Given the description of an element on the screen output the (x, y) to click on. 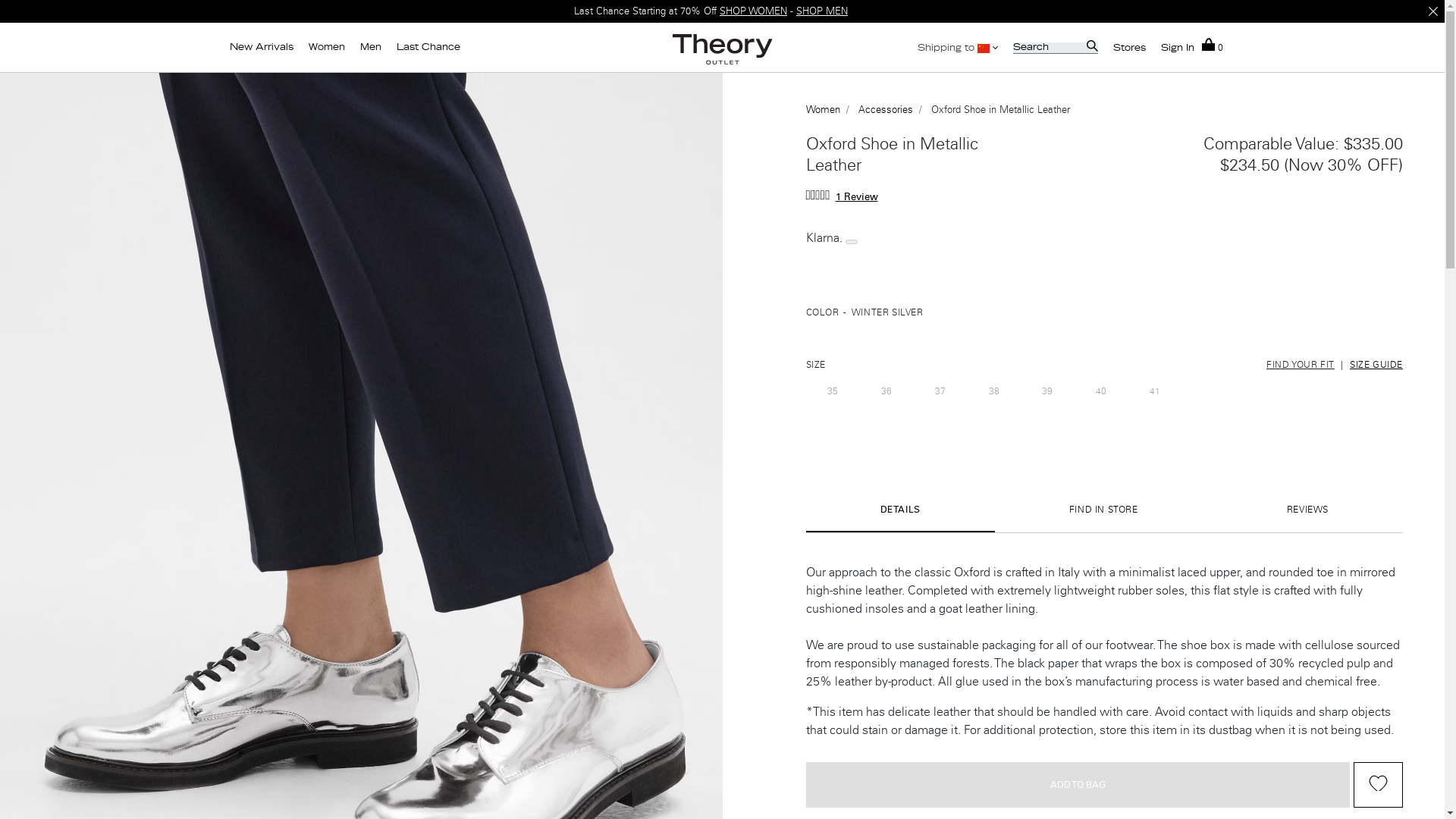
New Arrivals (260, 47)
SHOP MEN (821, 10)
Women (325, 47)
Size Guide (1376, 364)
Cart 0 Items (1212, 48)
SHOP WOMEN (753, 10)
Theory Outlet Home (722, 49)
